Given the description of an element on the screen output the (x, y) to click on. 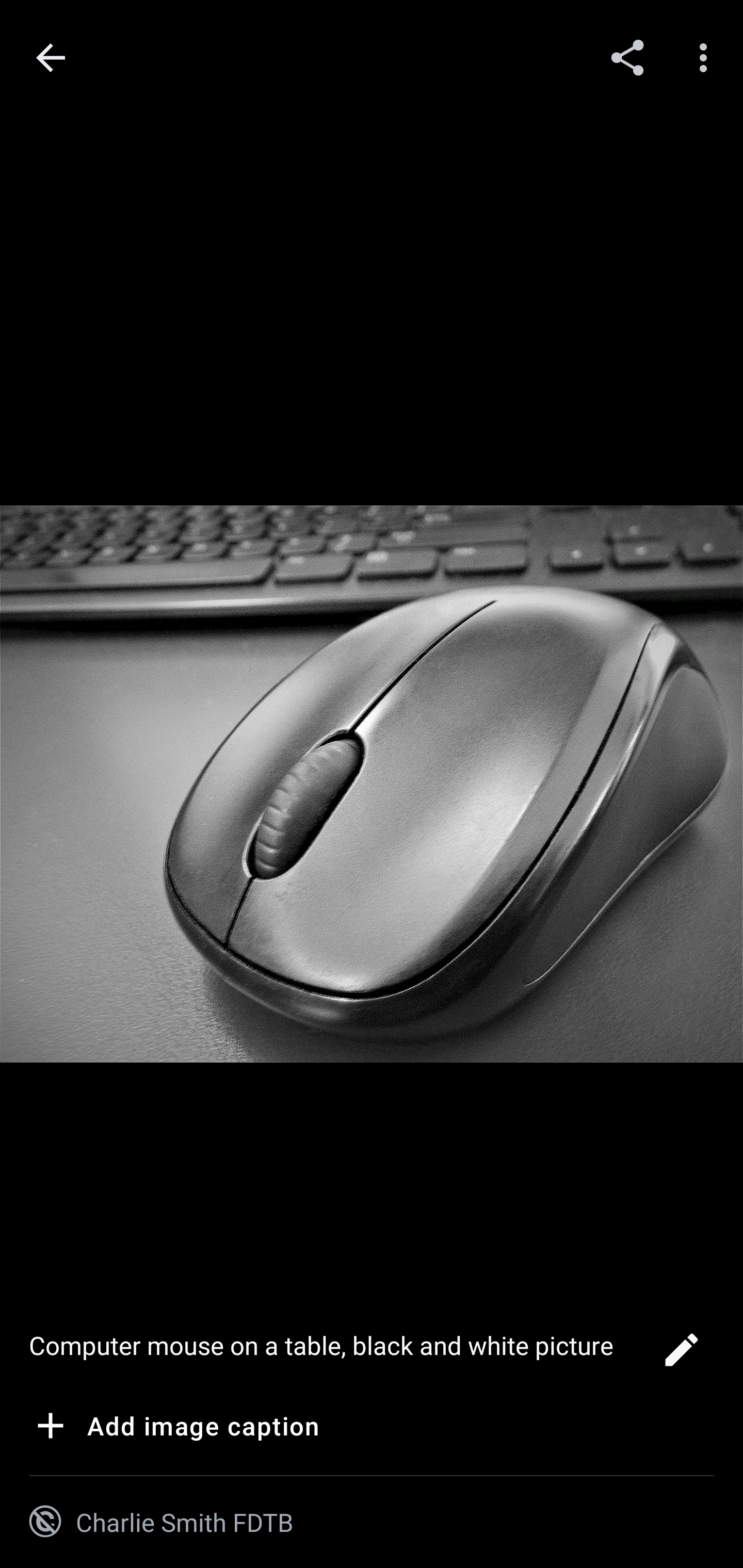
Navigate up (50, 57)
Share (626, 57)
More options (706, 57)
Edit image caption (681, 1355)
Add image caption (174, 1428)
Public domain (44, 1521)
